Given the description of an element on the screen output the (x, y) to click on. 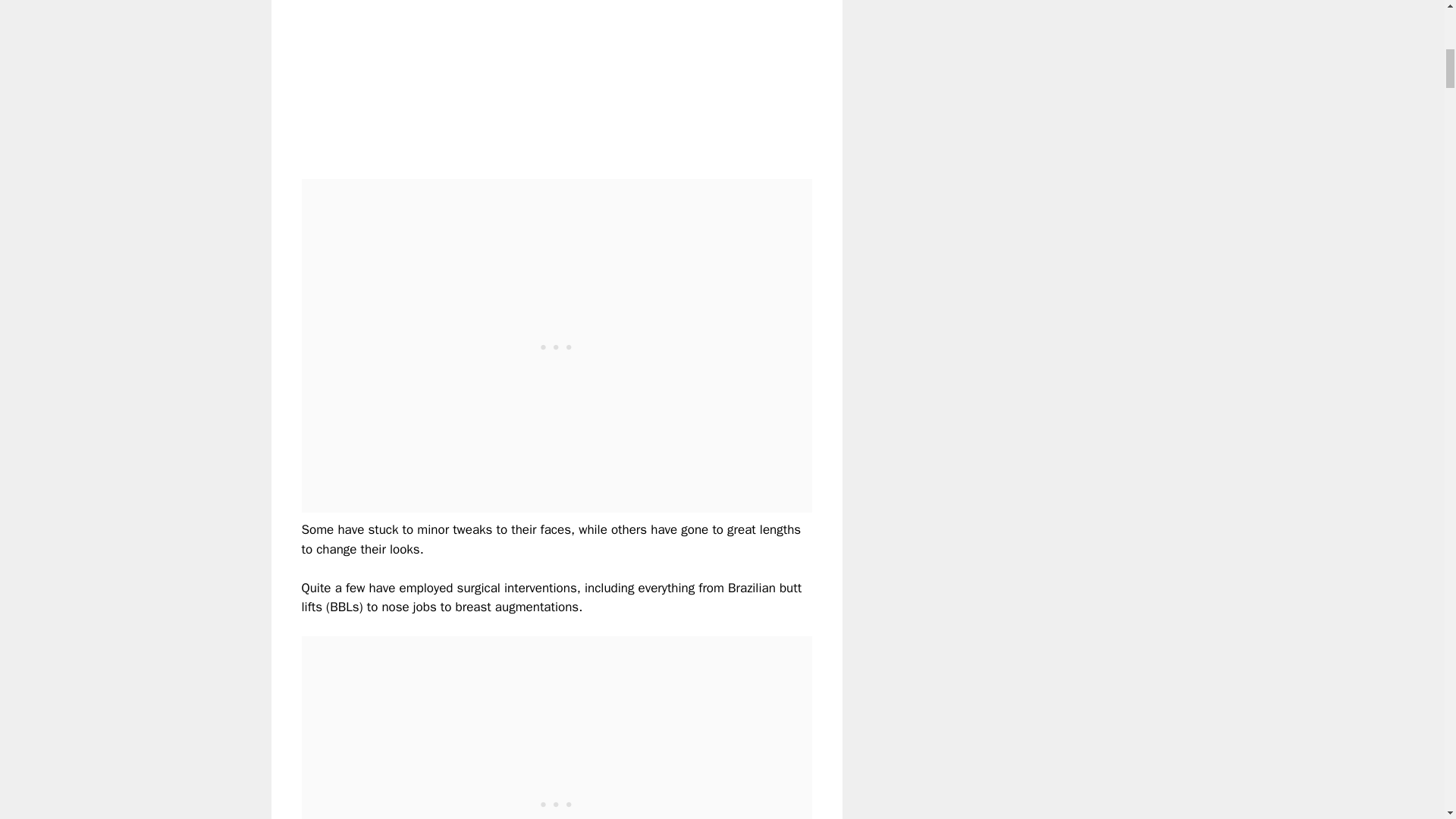
YouTube video player (513, 76)
